Given the description of an element on the screen output the (x, y) to click on. 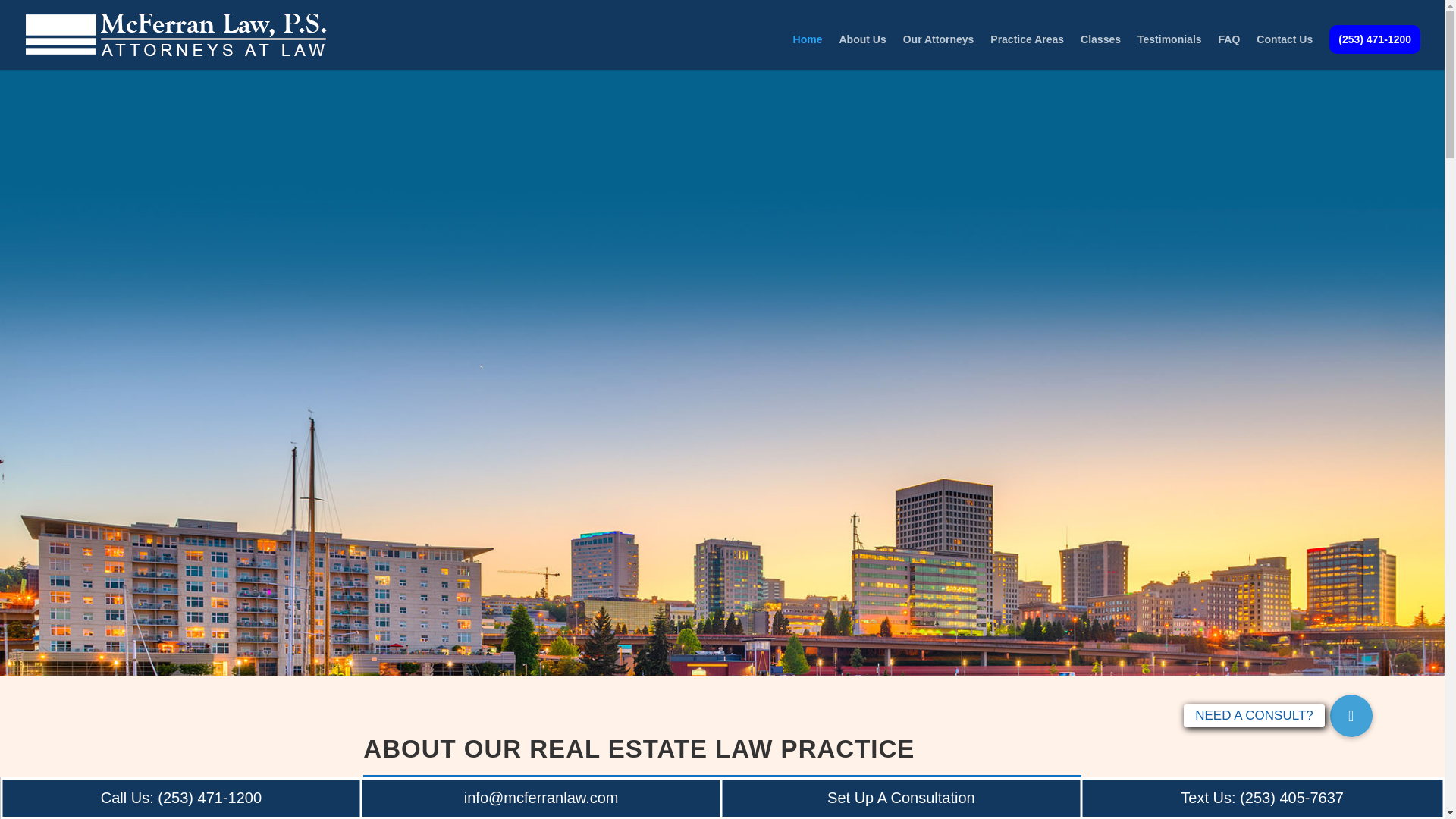
Classes (1100, 51)
Practice Areas (1027, 51)
About Us (861, 51)
Testimonials (1169, 51)
Set Up A Consultation (901, 797)
Our Attorneys (938, 51)
Contact Us (1284, 51)
